Given the description of an element on the screen output the (x, y) to click on. 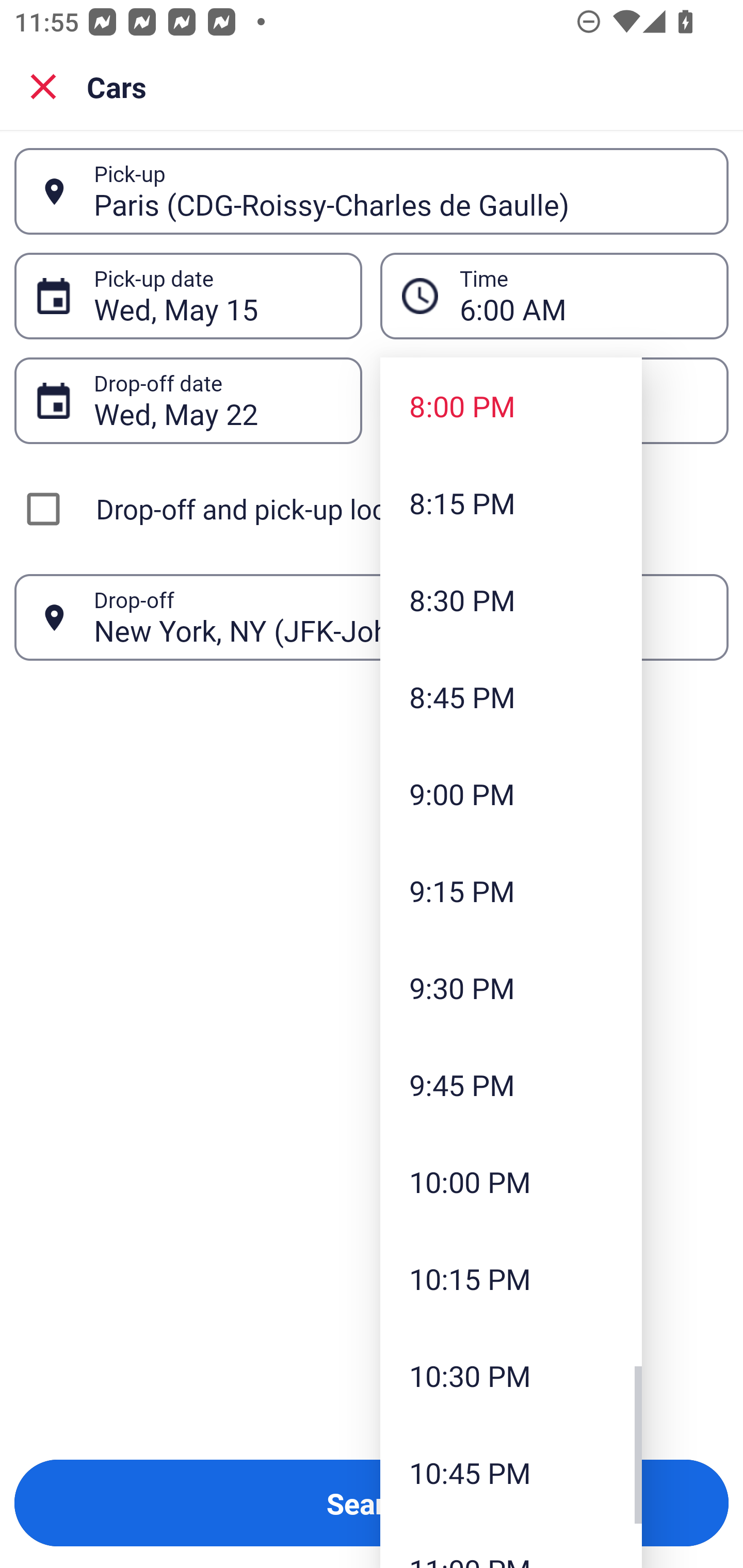
8:00 PM (510, 405)
8:15 PM (510, 502)
8:30 PM (510, 599)
8:45 PM (510, 695)
9:00 PM (510, 793)
9:15 PM (510, 890)
9:30 PM (510, 987)
9:45 PM (510, 1084)
10:00 PM (510, 1181)
10:15 PM (510, 1278)
10:30 PM (510, 1374)
10:45 PM (510, 1471)
